Given the description of an element on the screen output the (x, y) to click on. 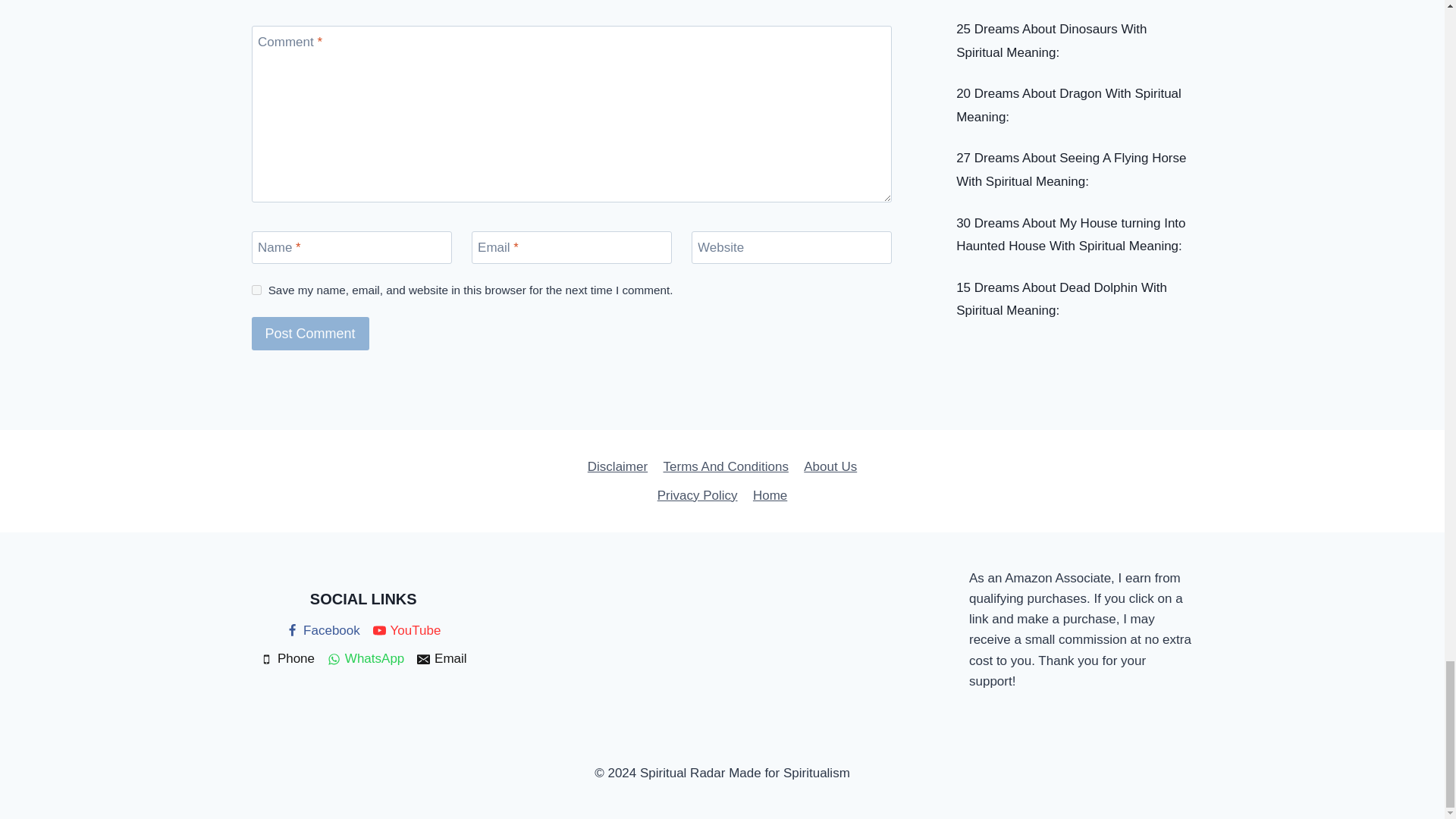
yes (256, 289)
Post Comment (310, 332)
